Given the description of an element on the screen output the (x, y) to click on. 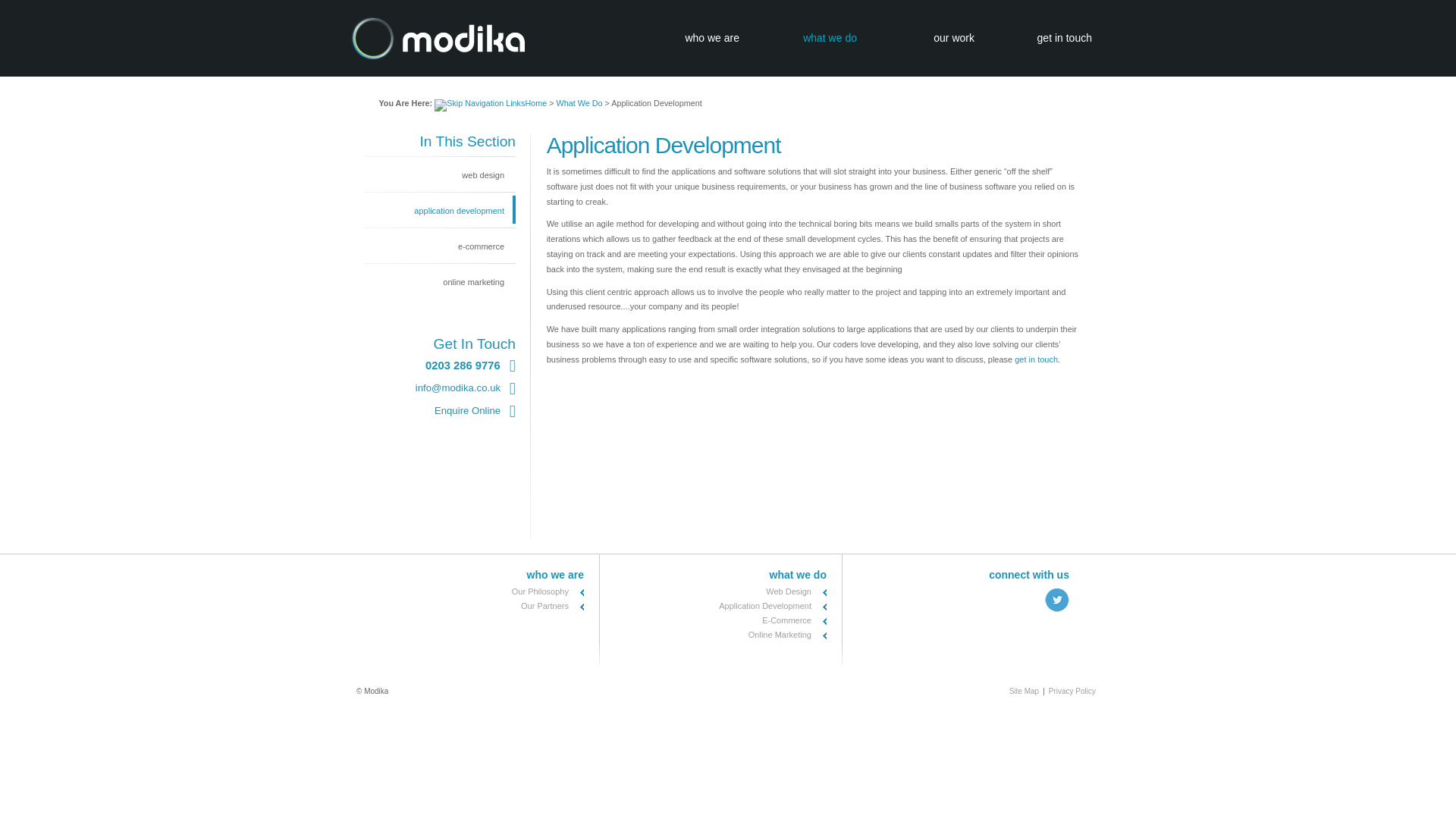
web design (435, 173)
Home (535, 102)
Home Page (535, 102)
our work (922, 35)
Web Design (787, 591)
what we do (805, 35)
Privacy Policy (1072, 691)
who we are (687, 35)
what we do (798, 574)
What We Do (579, 102)
